Given the description of an element on the screen output the (x, y) to click on. 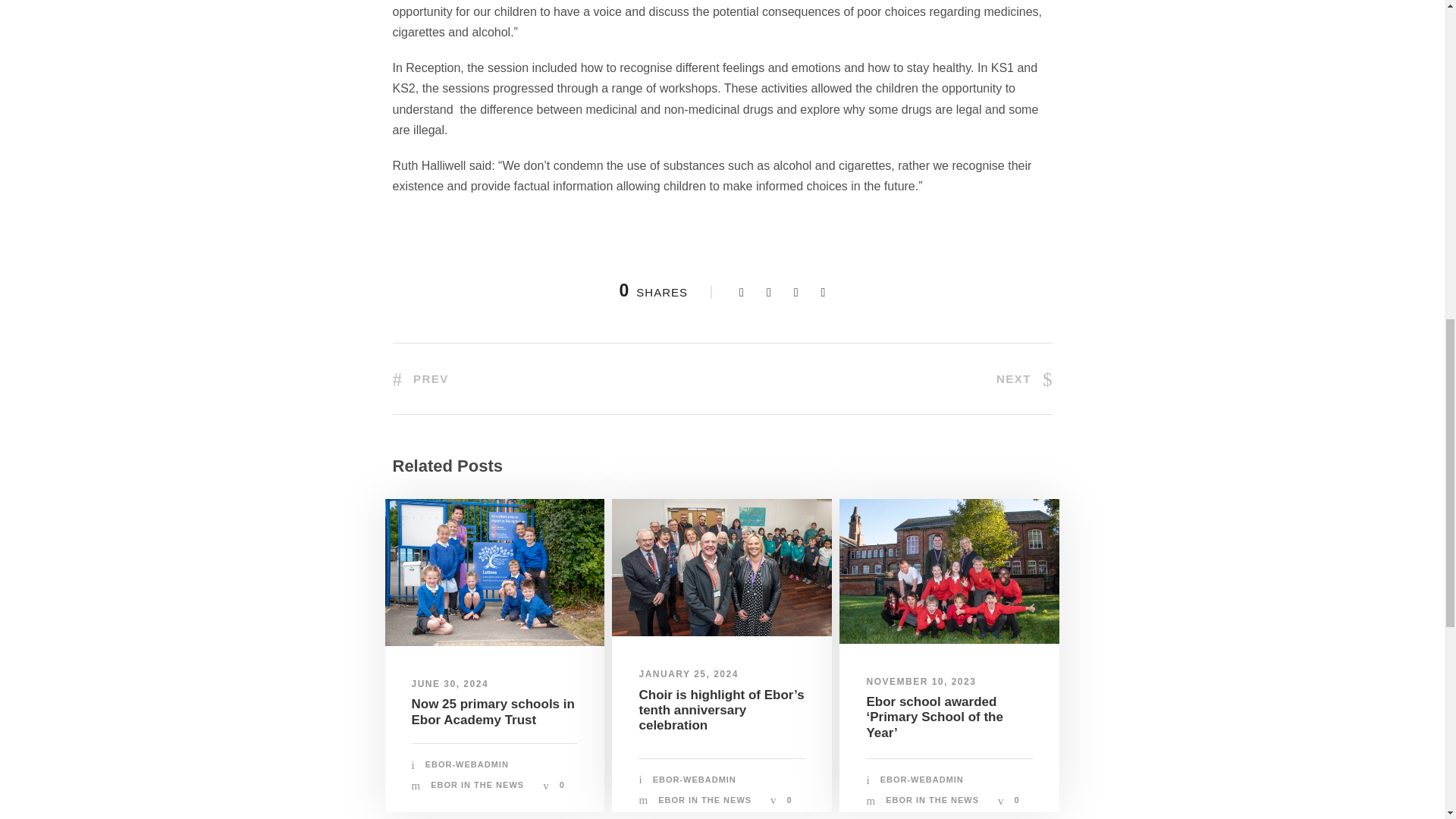
Posts by ebor-webadmin (466, 764)
HRwinners1 (949, 570)
Tenthanniversary1 (721, 567)
Posts by ebor-webadmin (921, 778)
Posts by ebor-webadmin (694, 778)
